Given the description of an element on the screen output the (x, y) to click on. 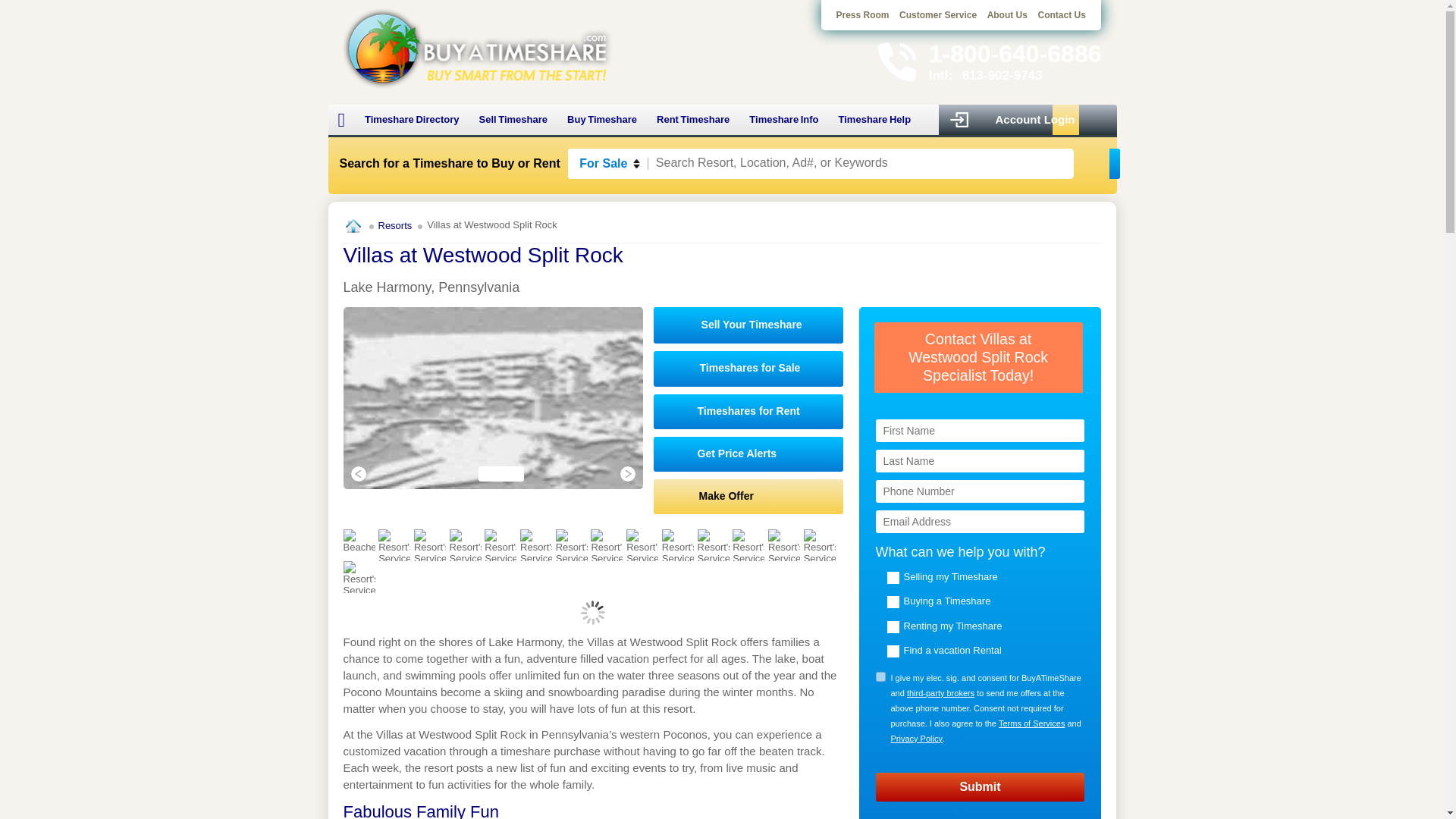
BuyATimeshare (476, 47)
1-800-640-6886 (1015, 53)
Phone Number (979, 490)
813-902-9743 (1002, 74)
Contact Us (1060, 14)
Sell Villas at Westwood Split Rock  timeshare (748, 325)
Timeshare Directory (411, 119)
checkbox (880, 676)
Golf (429, 545)
1 (880, 676)
